Given the description of an element on the screen output the (x, y) to click on. 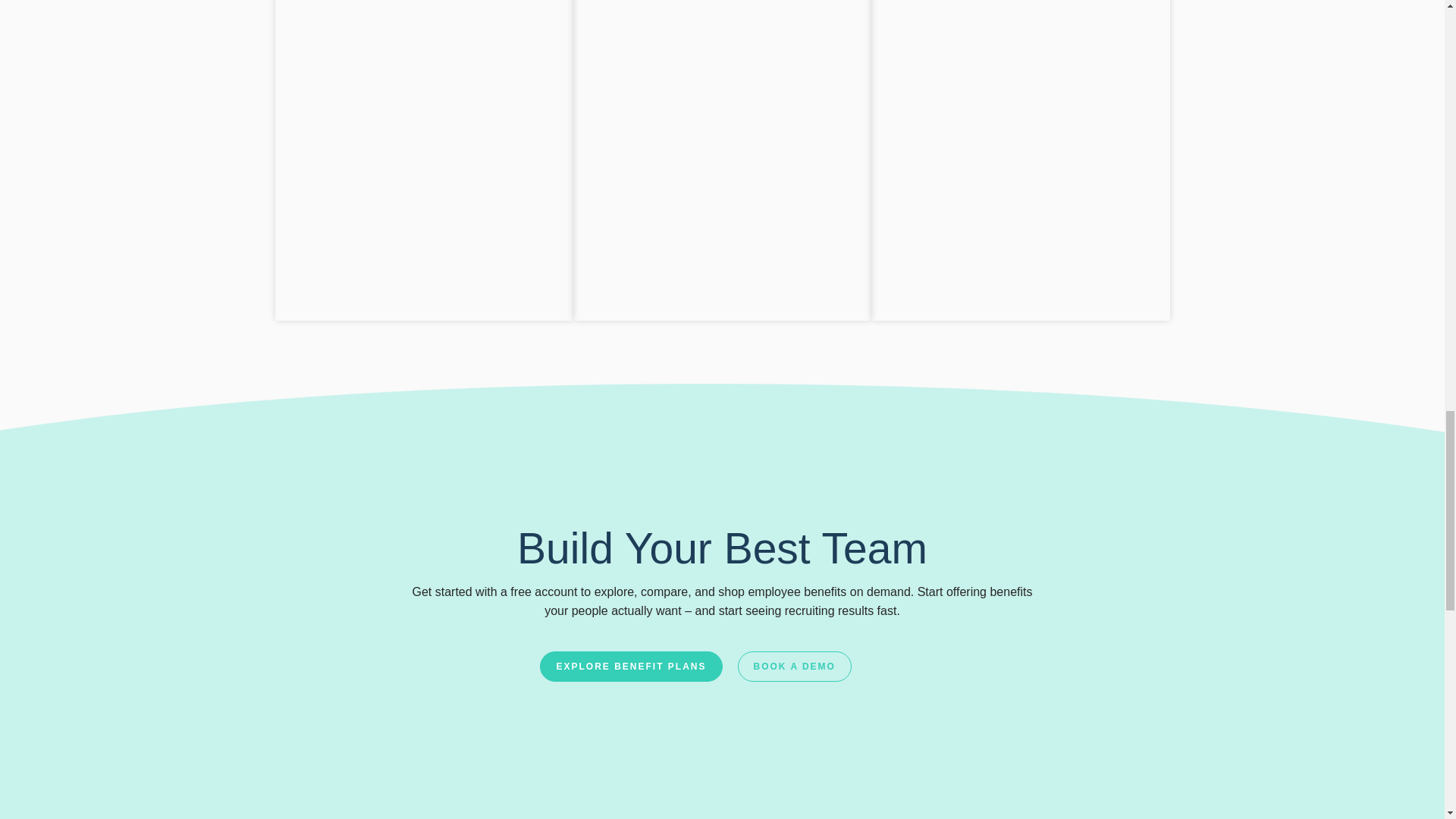
BOOK A DEMO (793, 666)
EXPLORE BENEFIT PLANS (631, 666)
